Given the description of an element on the screen output the (x, y) to click on. 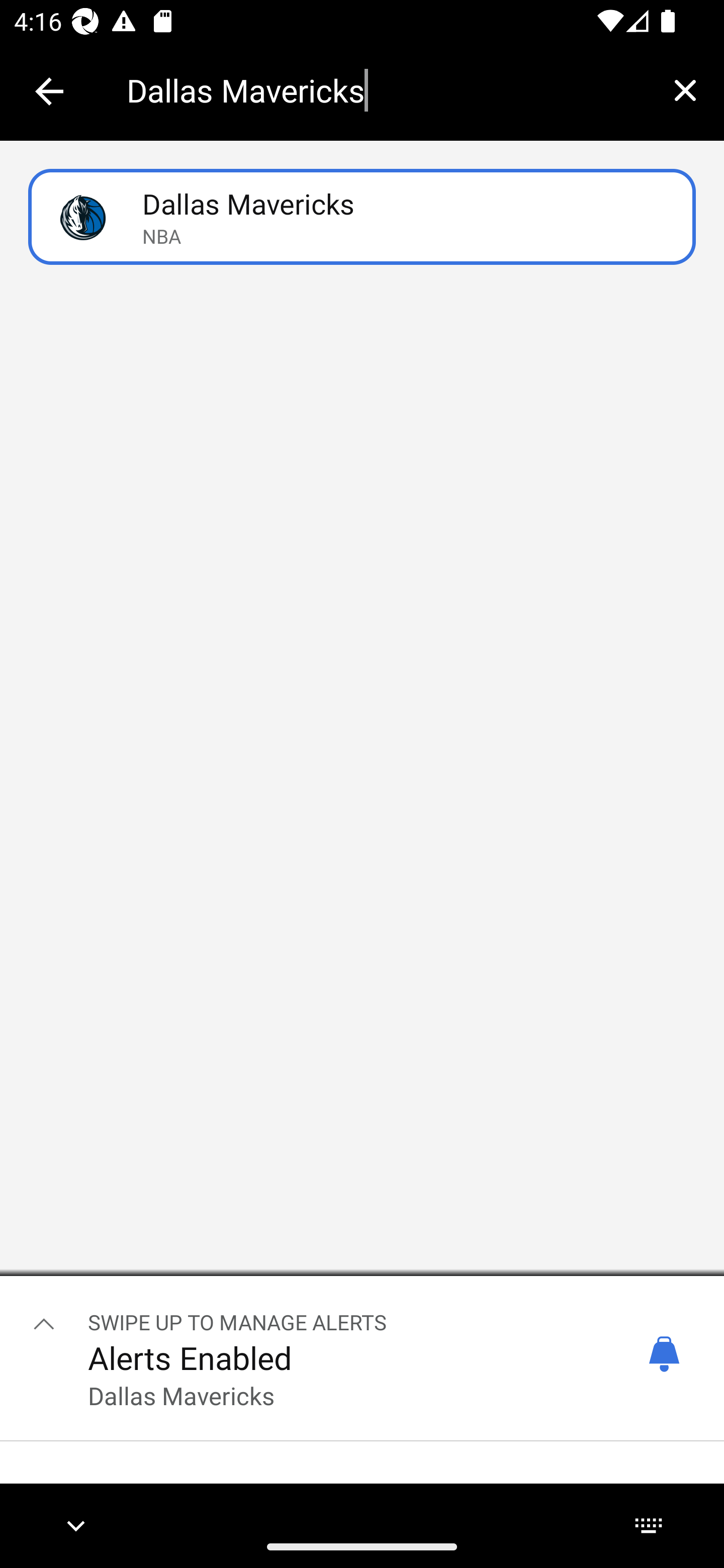
Collapse (49, 91)
Clear query (685, 89)
Dallas Mavericks (386, 90)
Dallas Mavericks Dallas MavericksSelected NBA (361, 216)
 (44, 1323)
